Given the description of an element on the screen output the (x, y) to click on. 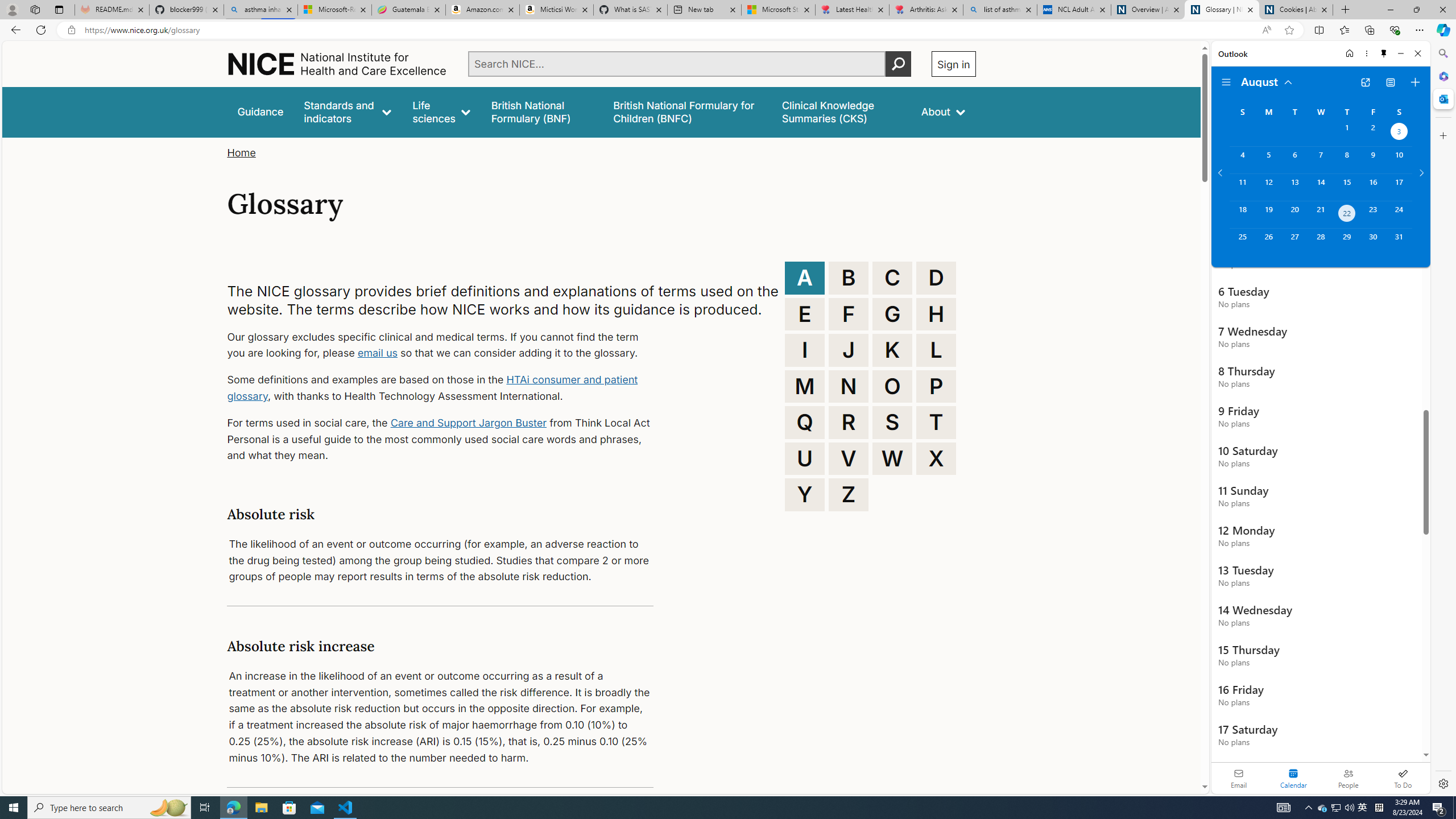
N (848, 385)
Saturday, August 24, 2024.  (1399, 214)
British National Formulary for Children (BNFC) (686, 111)
asthma inhaler - Search (260, 9)
Create event (1414, 82)
E (804, 313)
HTAi consumer and patient glossary (432, 387)
P (935, 385)
View Switcher. Current view is Agenda view (1390, 82)
G (892, 313)
People (1347, 777)
